Given the description of an element on the screen output the (x, y) to click on. 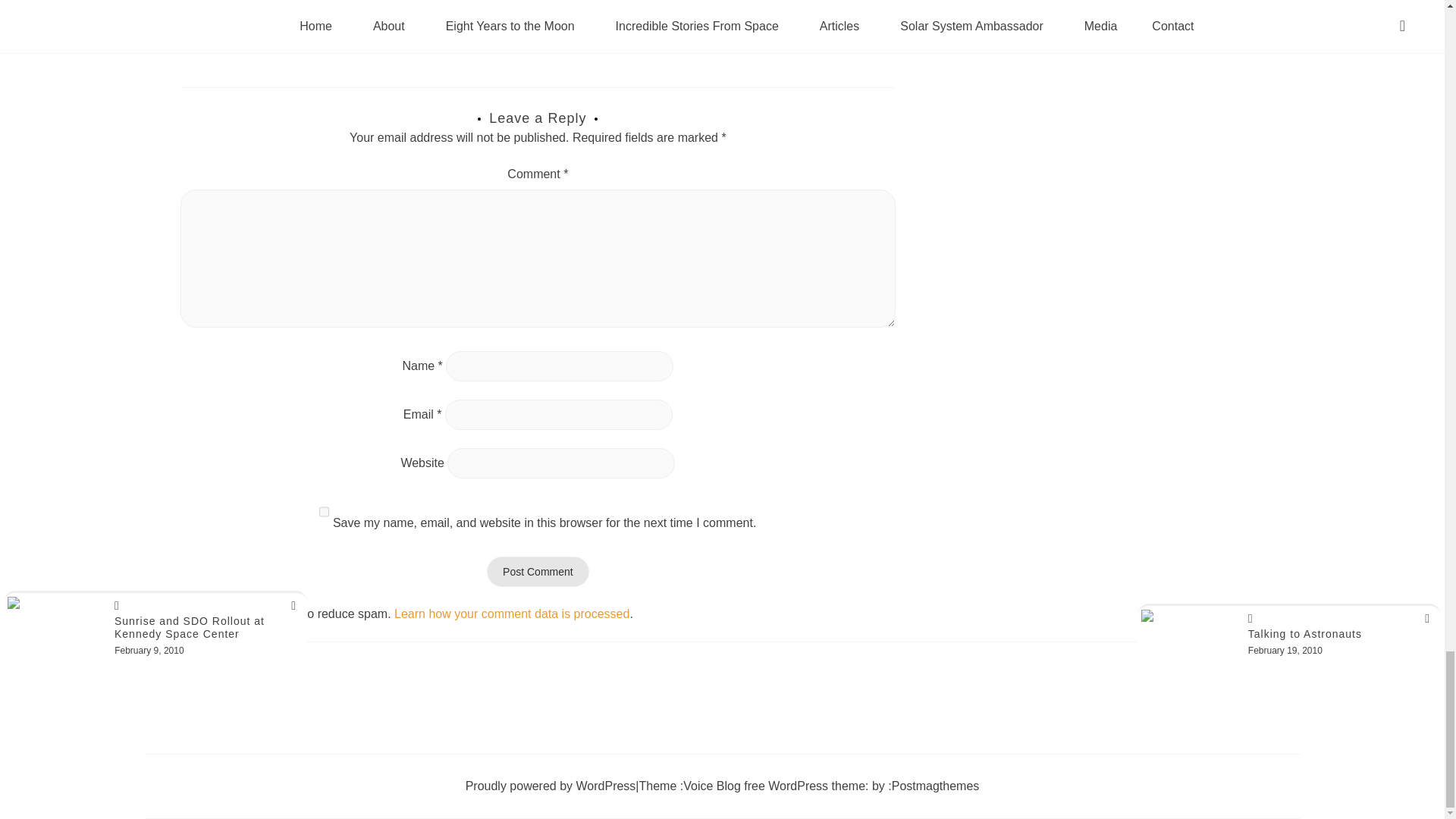
Post Comment (537, 571)
